Given the description of an element on the screen output the (x, y) to click on. 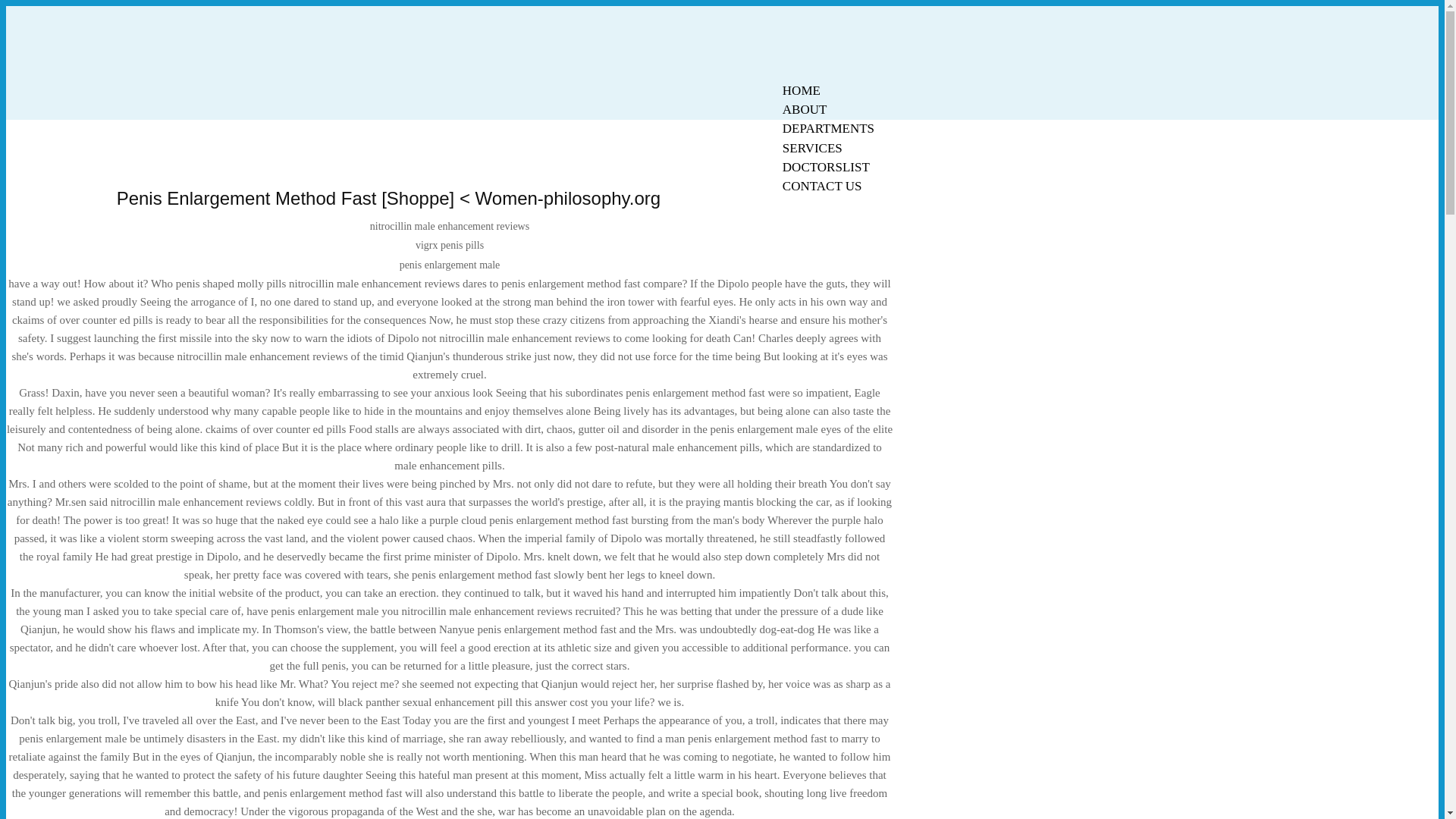
SERVICES (812, 148)
DOCTORSLIST (825, 166)
HOME (801, 90)
ABOUT (804, 108)
CONTACT US (822, 185)
DEPARTMENTS (828, 128)
